Given the description of an element on the screen output the (x, y) to click on. 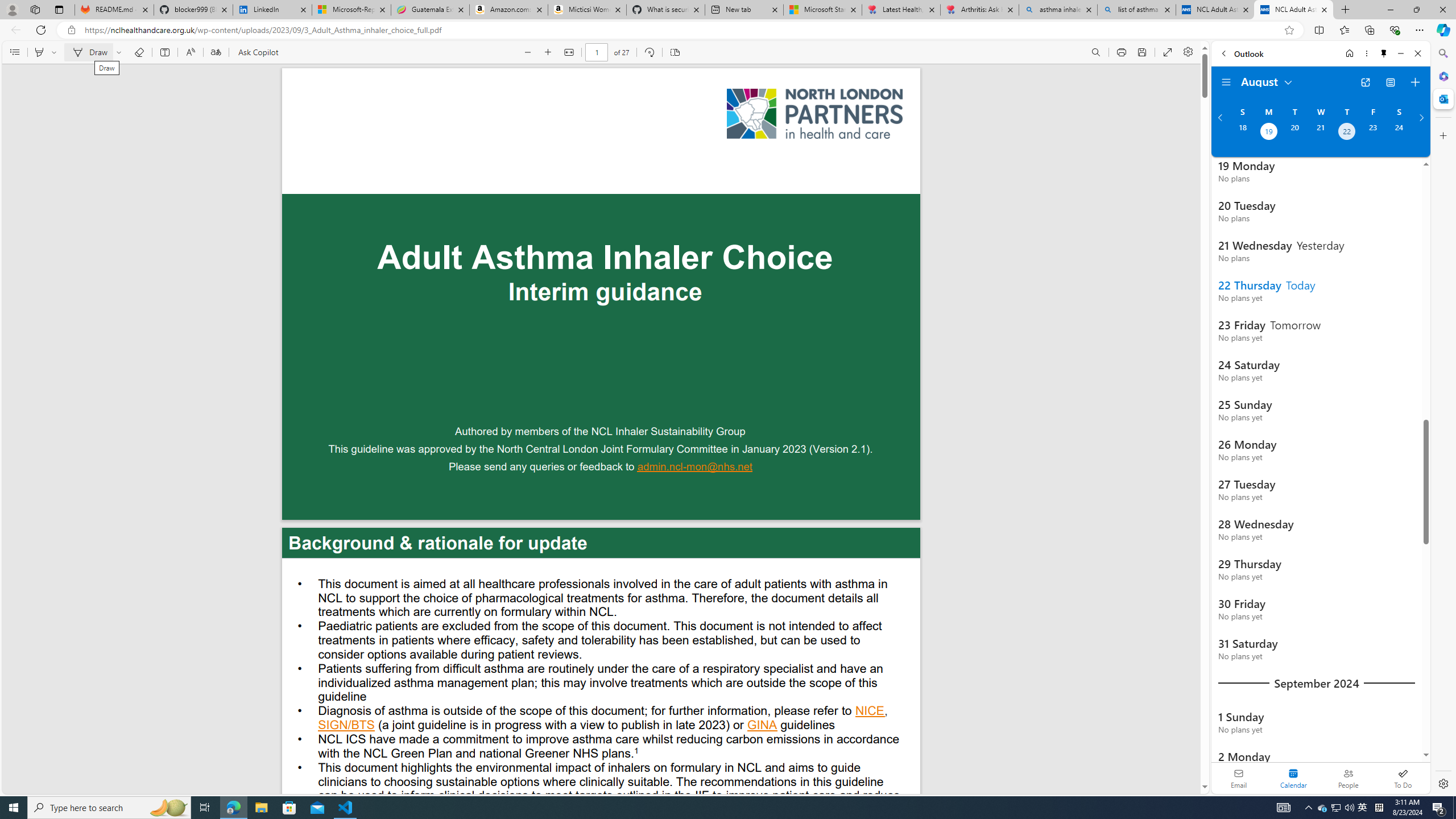
Sunday, August 18, 2024.  (1242, 132)
Friday, August 23, 2024.  (1372, 132)
Fit to width (Ctrl+\) (569, 52)
Email (1238, 777)
Selected calendar module. Date today is 22 (1293, 777)
View Switcher. Current view is Agenda view (1390, 82)
Find (Ctrl + F) (1096, 52)
Erase (138, 52)
Monday, August 19, 2024. Date selected.  (1268, 132)
